Given the description of an element on the screen output the (x, y) to click on. 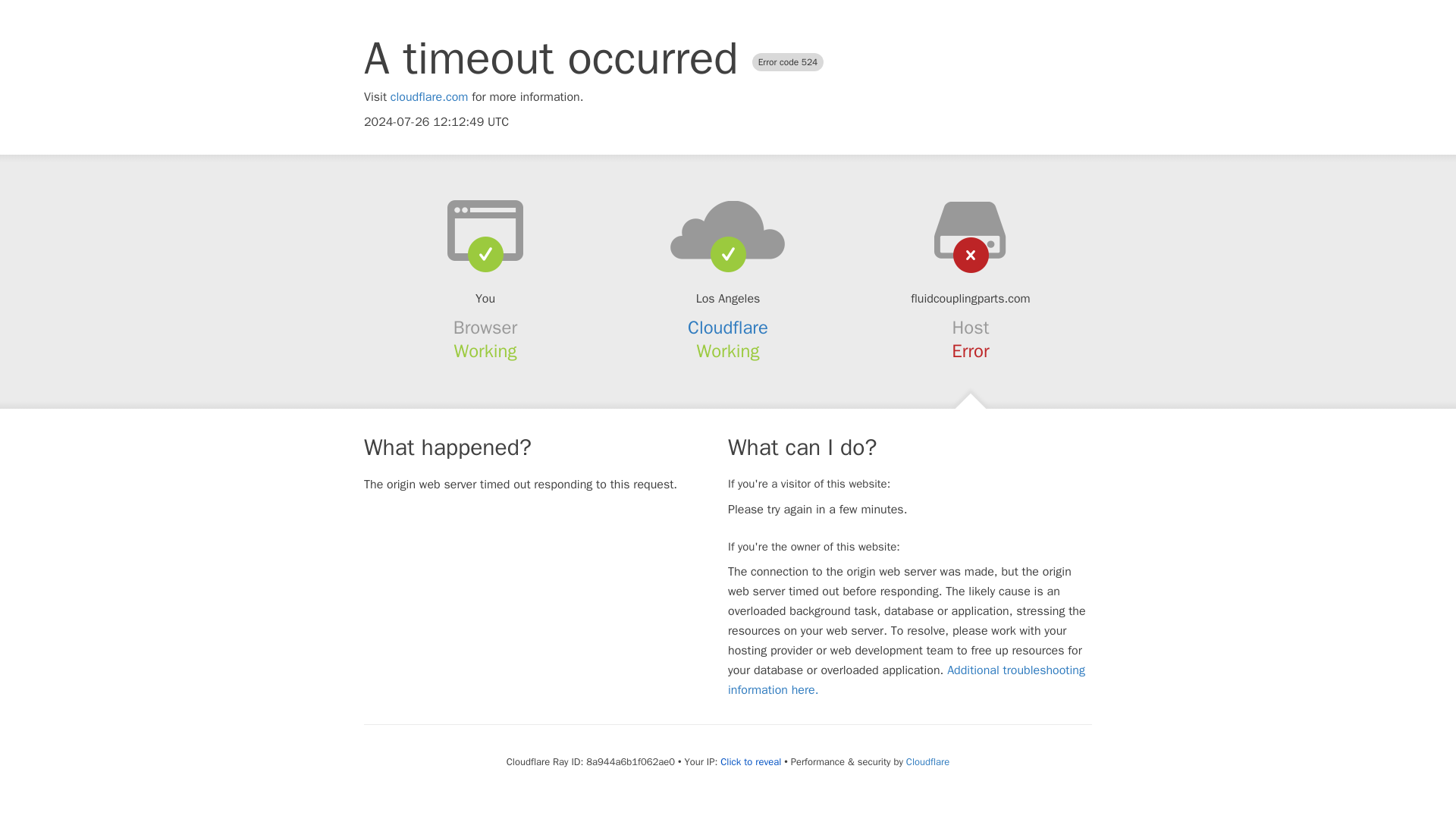
Cloudflare (927, 761)
Additional troubleshooting information here. (906, 679)
cloudflare.com (429, 96)
Click to reveal (750, 762)
Cloudflare (727, 327)
